Given the description of an element on the screen output the (x, y) to click on. 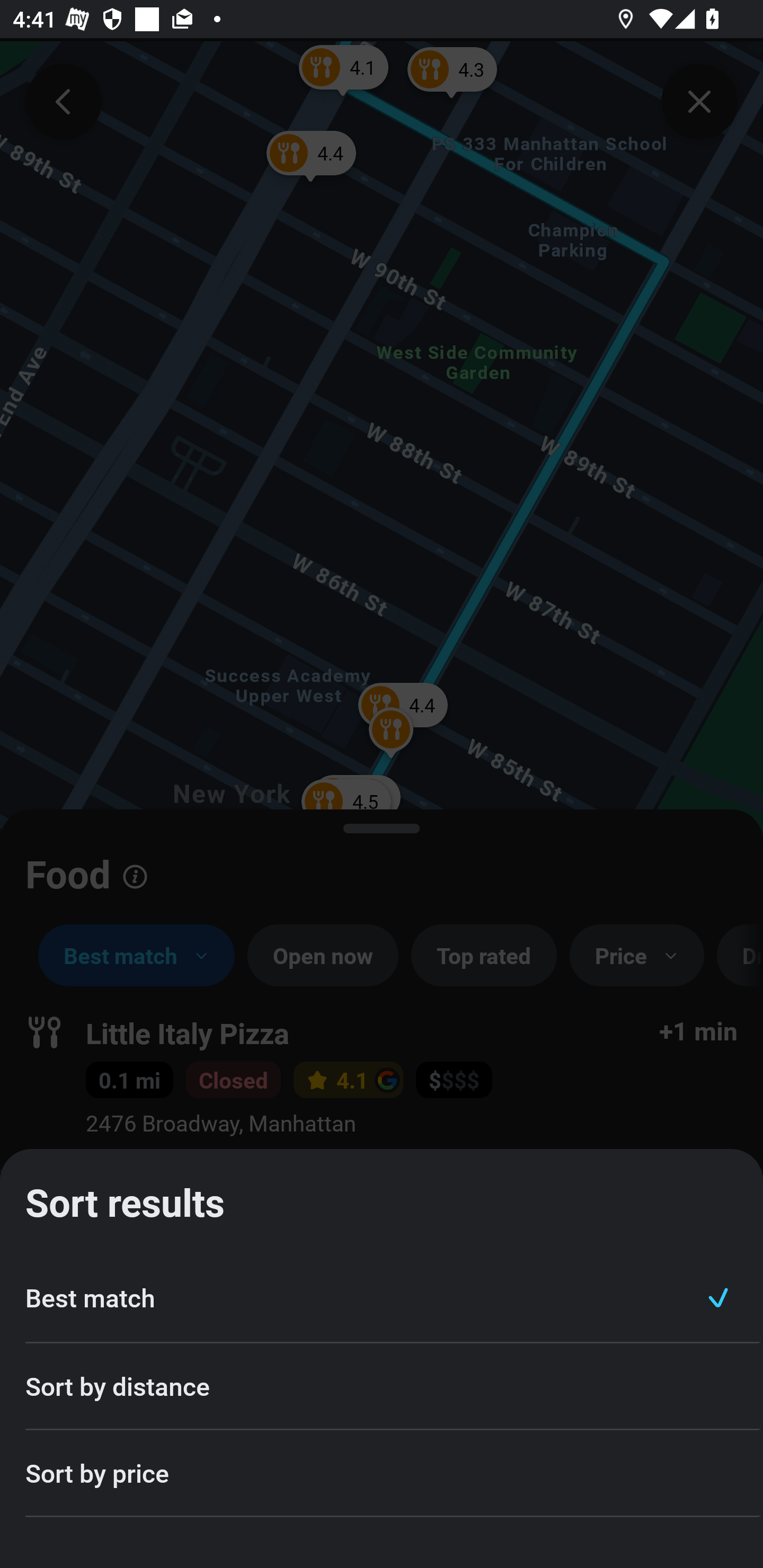
Best match ACTION_CELL_TEXT (381, 1297)
Sort by distance ACTION_CELL_TEXT (381, 1386)
Sort by price ACTION_CELL_TEXT (381, 1473)
